Given the description of an element on the screen output the (x, y) to click on. 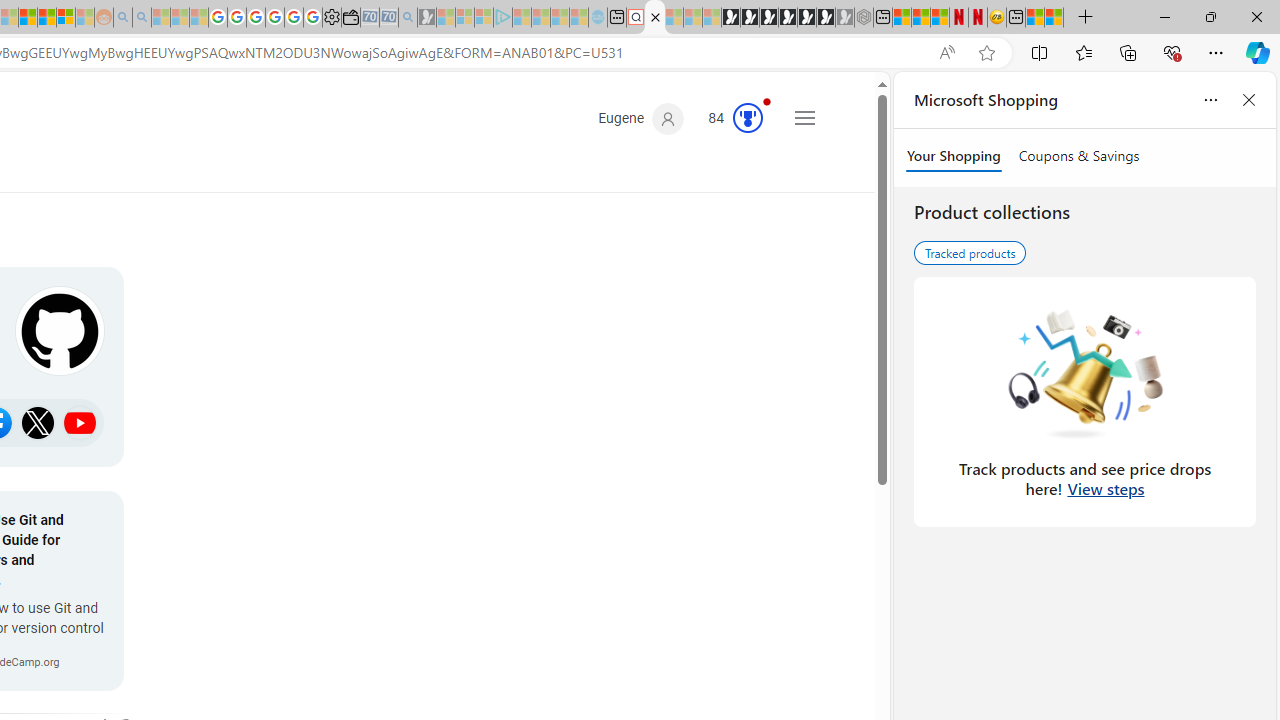
Home | Sky Blue Bikes - Sky Blue Bikes - Sleeping (597, 17)
Settings and quick links (804, 117)
AutomationID: rh_meter (748, 117)
Wildlife - MSN (1035, 17)
